Given the description of an element on the screen output the (x, y) to click on. 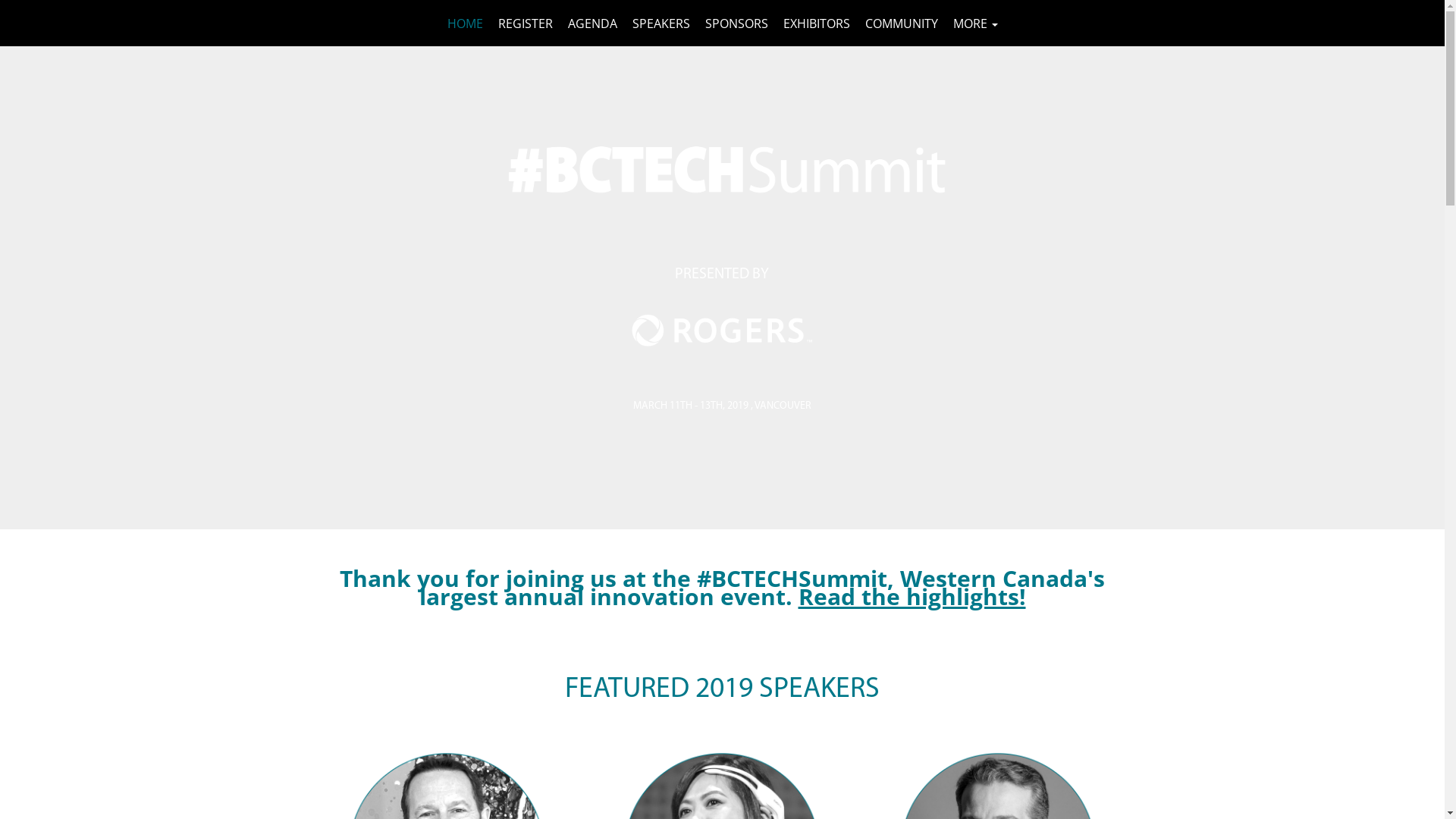
SPEAKERS Element type: text (660, 23)
SPONSORS Element type: text (736, 23)
Read the highlights! Element type: text (911, 599)
COMMUNITY Element type: text (900, 23)
AGENDA Element type: text (591, 23)
MORE Element type: text (974, 23)
EXHIBITORS Element type: text (815, 23)
HOME Element type: text (464, 23)
REGISTER Element type: text (524, 23)
